Given the description of an element on the screen output the (x, y) to click on. 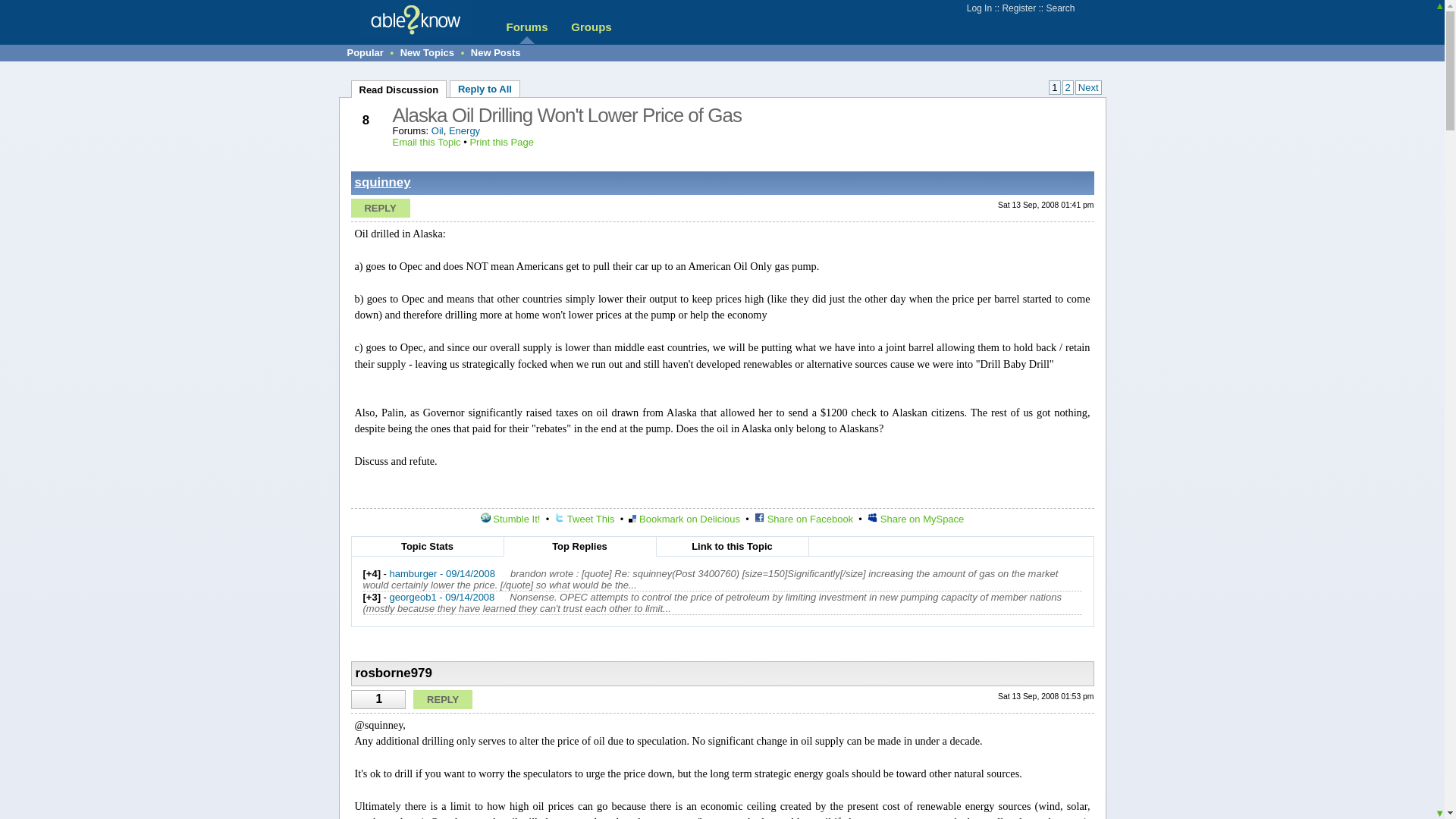
Search (1059, 8)
Oil (437, 130)
Reply (442, 699)
New Topics (427, 52)
Bookmark on Delicious (683, 518)
Search (1059, 8)
New Topics (427, 52)
Next Page (1088, 87)
Reply (379, 208)
Share on Facebook (803, 518)
